Given the description of an element on the screen output the (x, y) to click on. 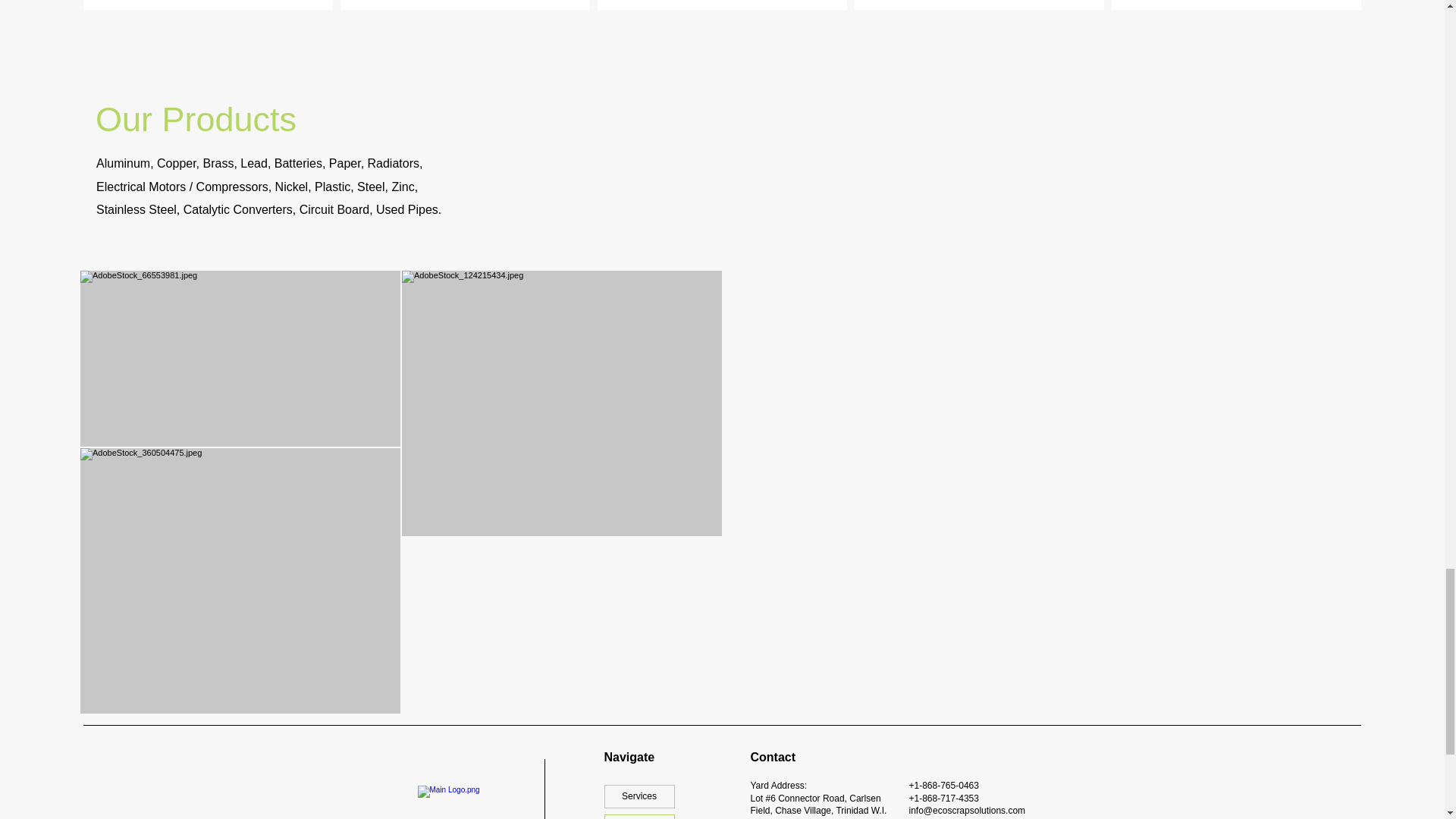
Services (639, 796)
